Given the description of an element on the screen output the (x, y) to click on. 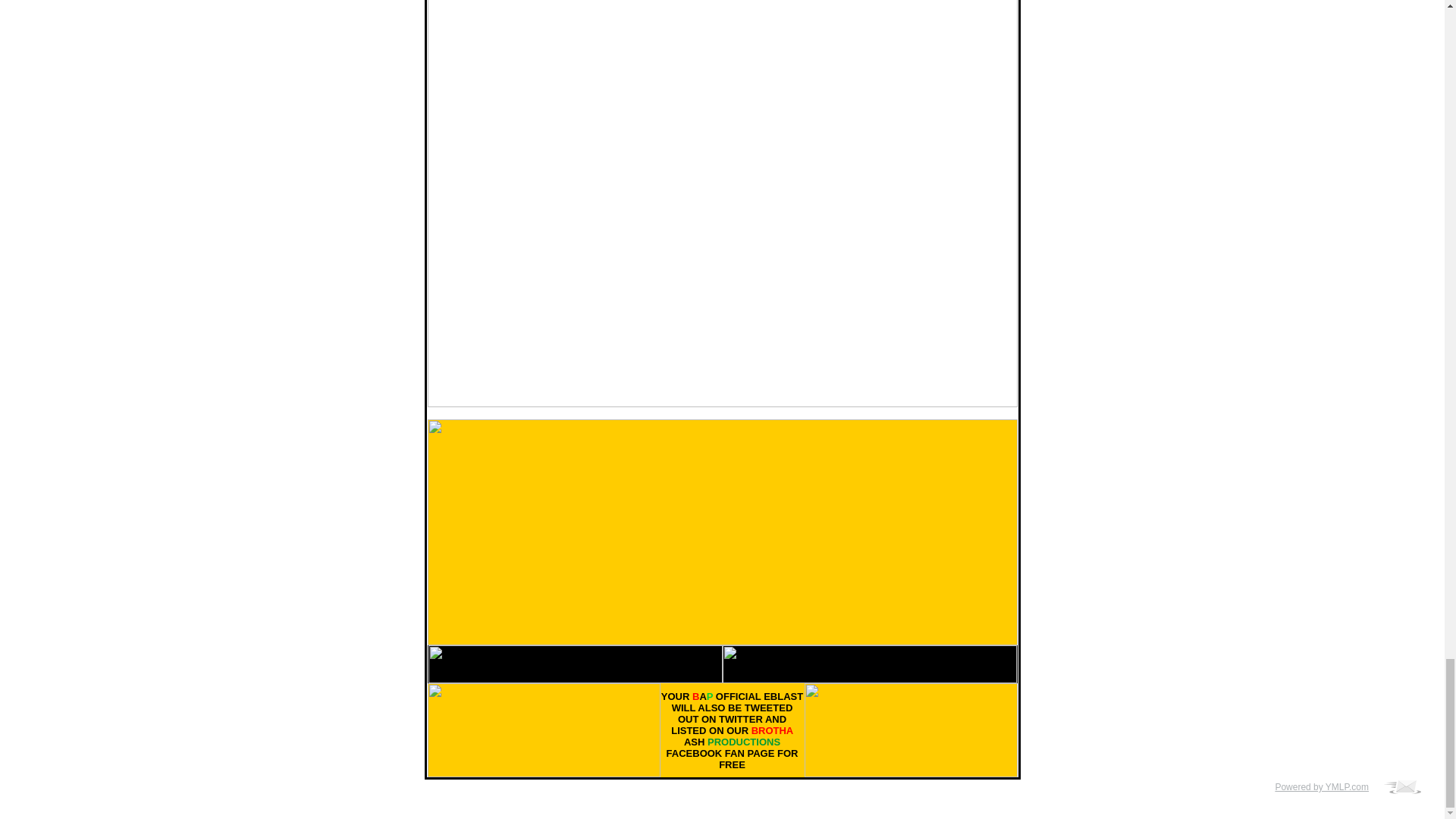
Powered by YMLP.com (1325, 787)
